Given the description of an element on the screen output the (x, y) to click on. 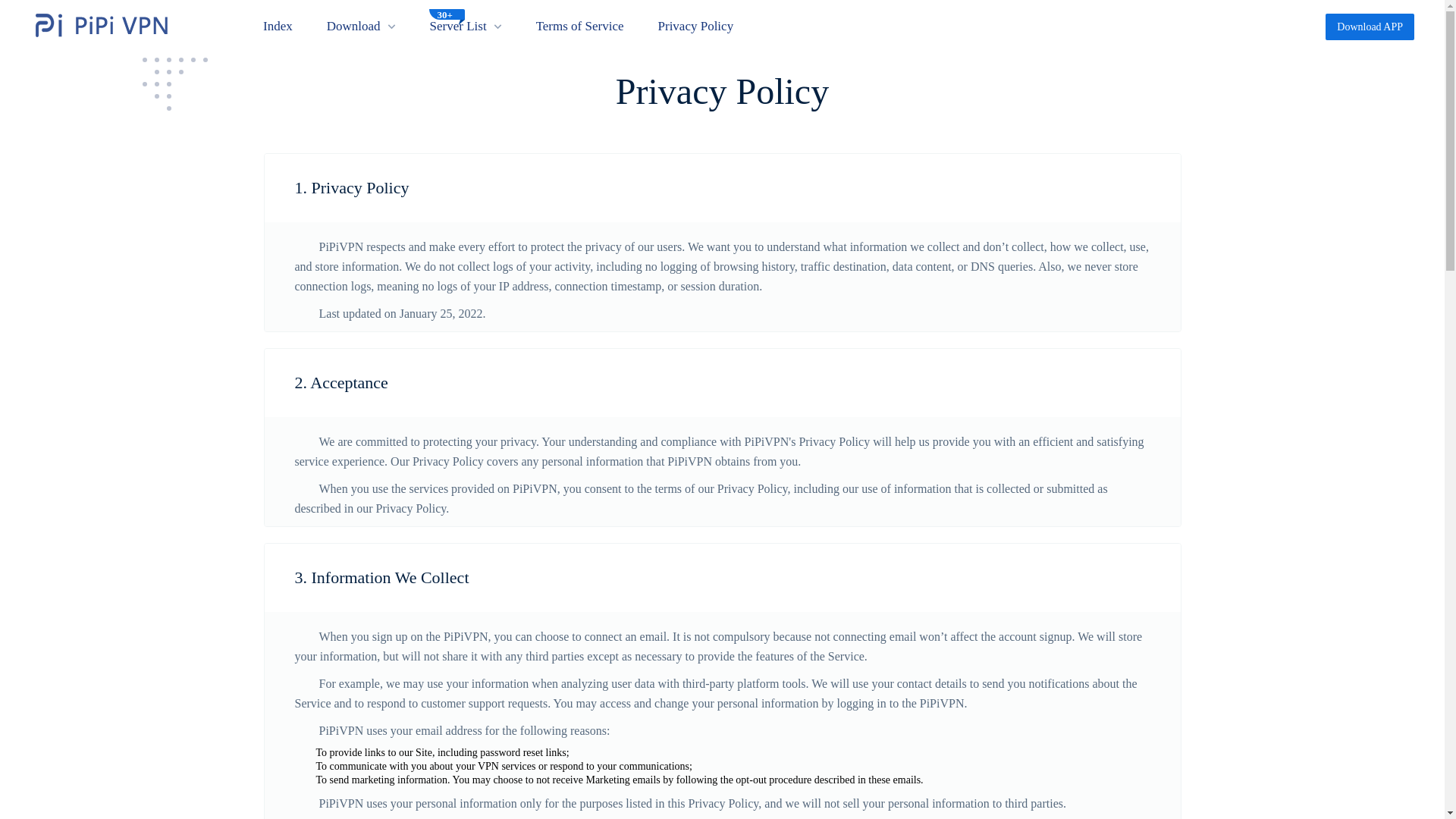
Terms of Service (581, 26)
Privacy Policy (698, 26)
Download (353, 26)
Index (280, 26)
Download APP (1368, 26)
Server List (457, 26)
